Given the description of an element on the screen output the (x, y) to click on. 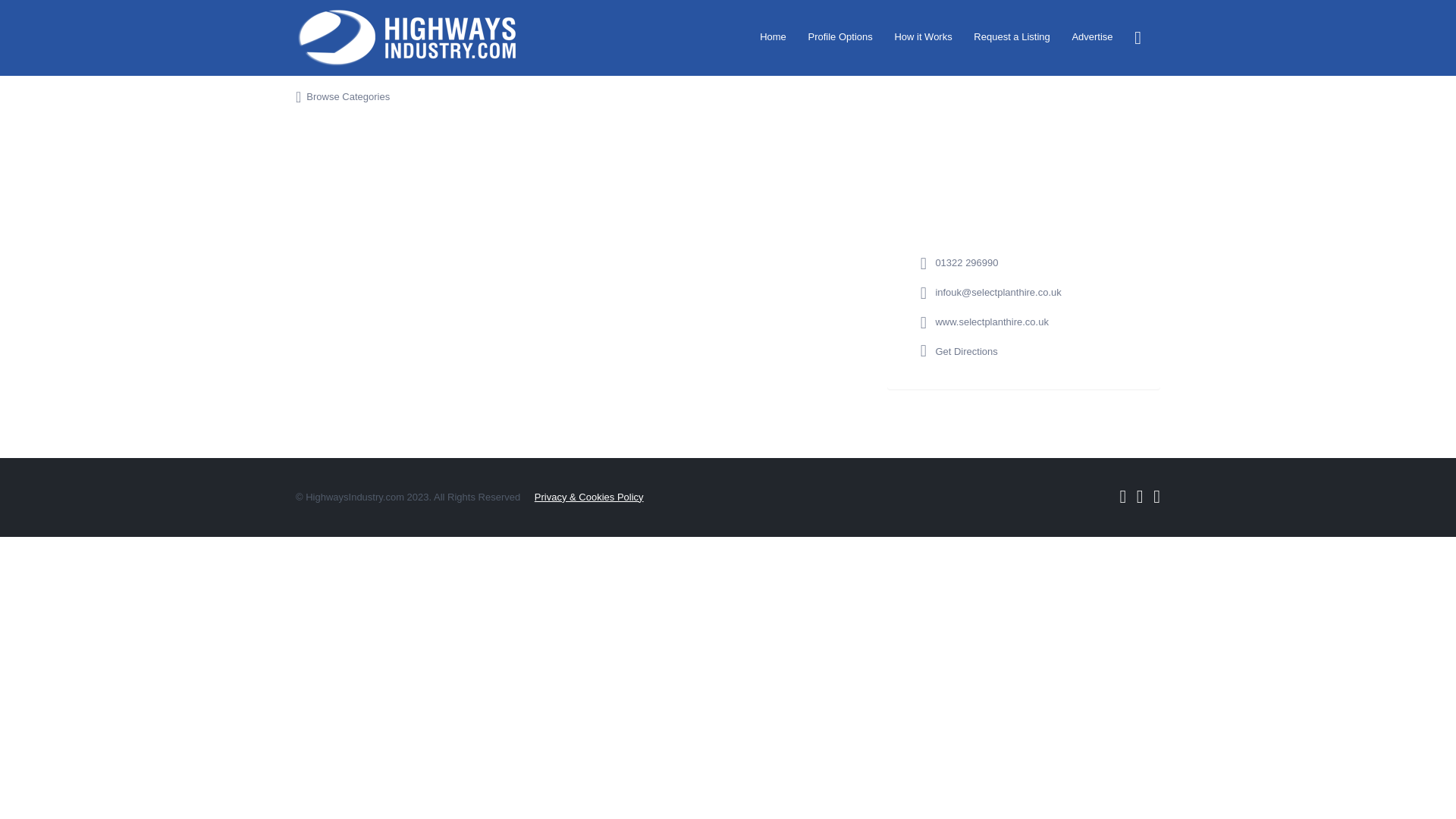
Advertise (1091, 36)
How it Works (922, 36)
Profile Options (840, 36)
Request a Listing (1011, 36)
Shift-click to edit this element. (413, 38)
Browse Categories (339, 96)
